Given the description of an element on the screen output the (x, y) to click on. 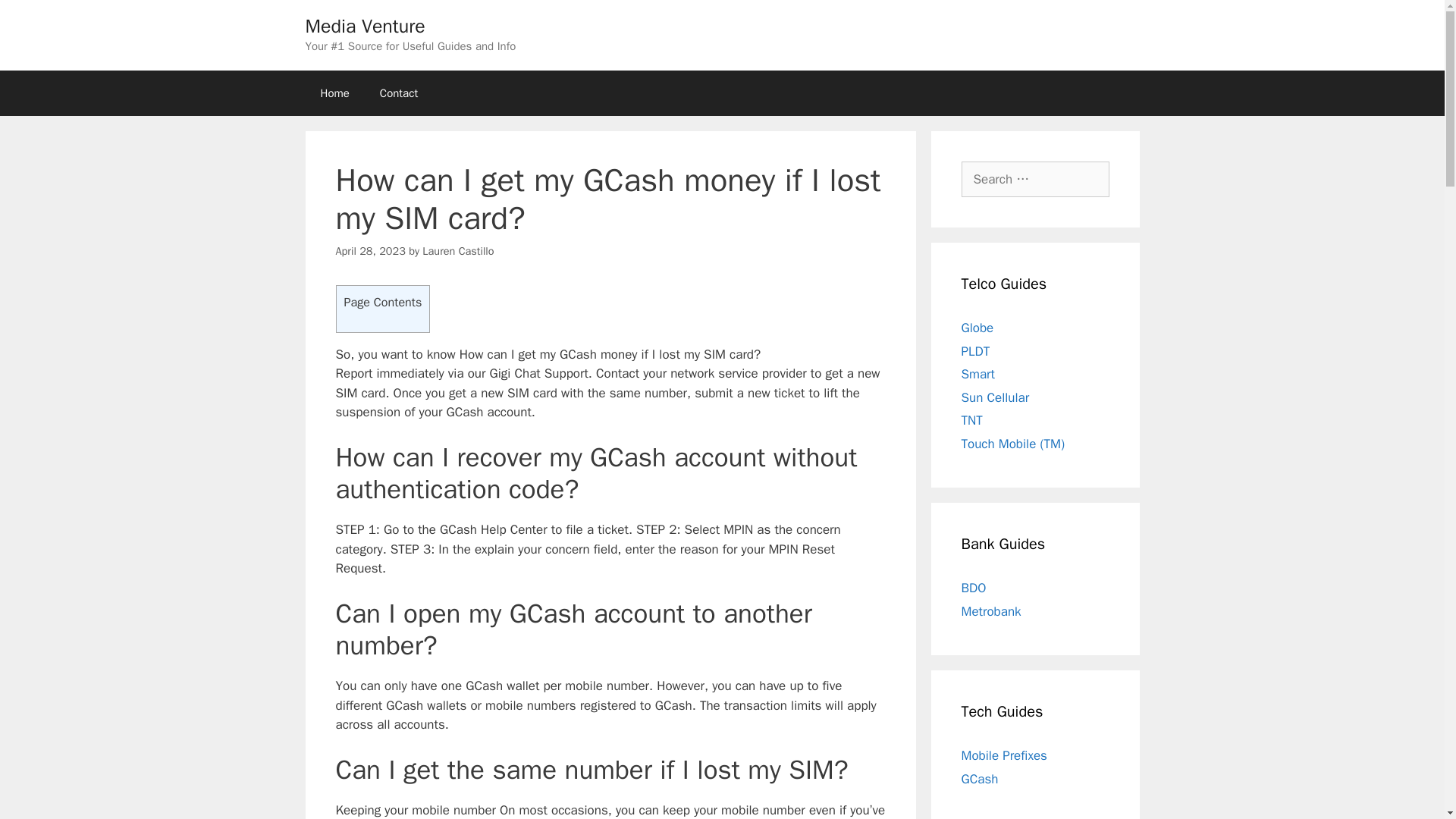
Smart (977, 374)
Metrobank (991, 611)
Sun Cellular (994, 397)
TNT (971, 420)
Home (334, 92)
Mobile Prefixes (1003, 755)
BDO (973, 587)
View all posts by Lauren Castillo (457, 250)
Contact (398, 92)
Media Venture (364, 25)
